Given the description of an element on the screen output the (x, y) to click on. 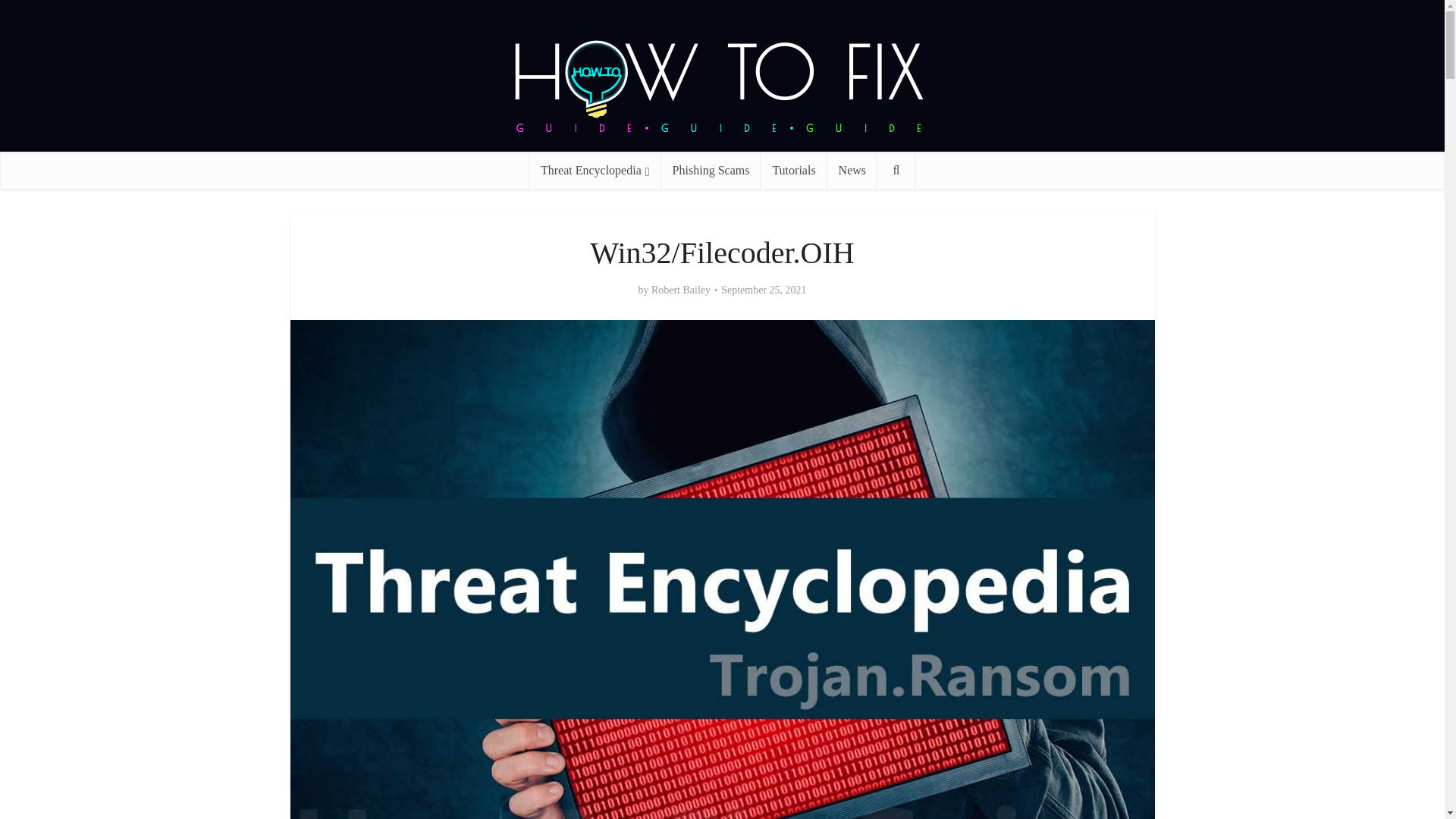
Threat Encyclopedia (595, 170)
News (852, 170)
Tutorials (793, 170)
Robert Bailey (680, 290)
Phishing Scams (711, 170)
